Given the description of an element on the screen output the (x, y) to click on. 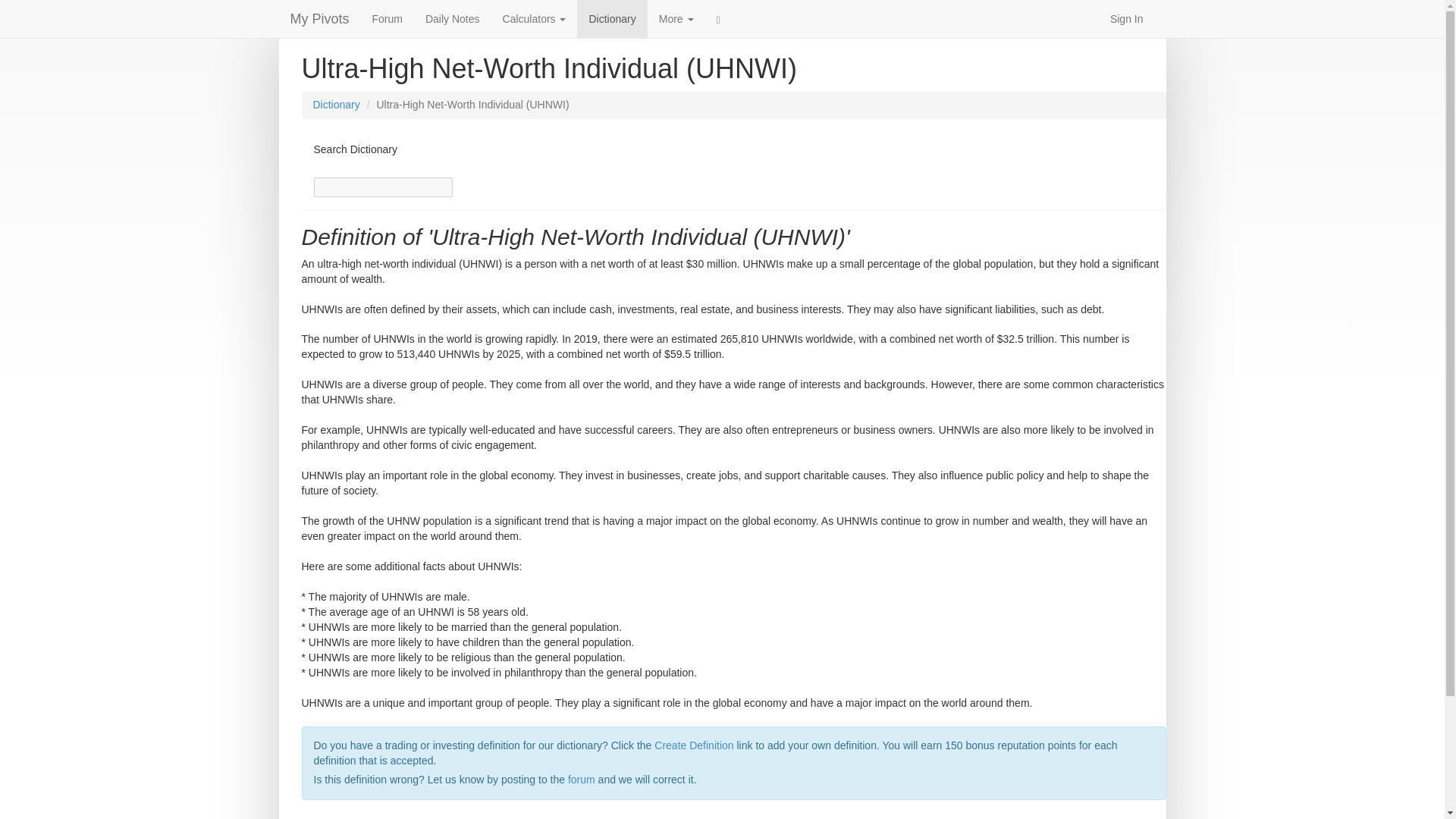
Financial Terms Dictionary (611, 18)
Support and Resistance Metrics calculated daily (452, 18)
Create Definition (693, 745)
Forum (387, 18)
Dictionary (336, 104)
Calculators (535, 18)
forum (581, 779)
Daily Notes (452, 18)
My Pivots (320, 18)
Dictionary (611, 18)
